Given the description of an element on the screen output the (x, y) to click on. 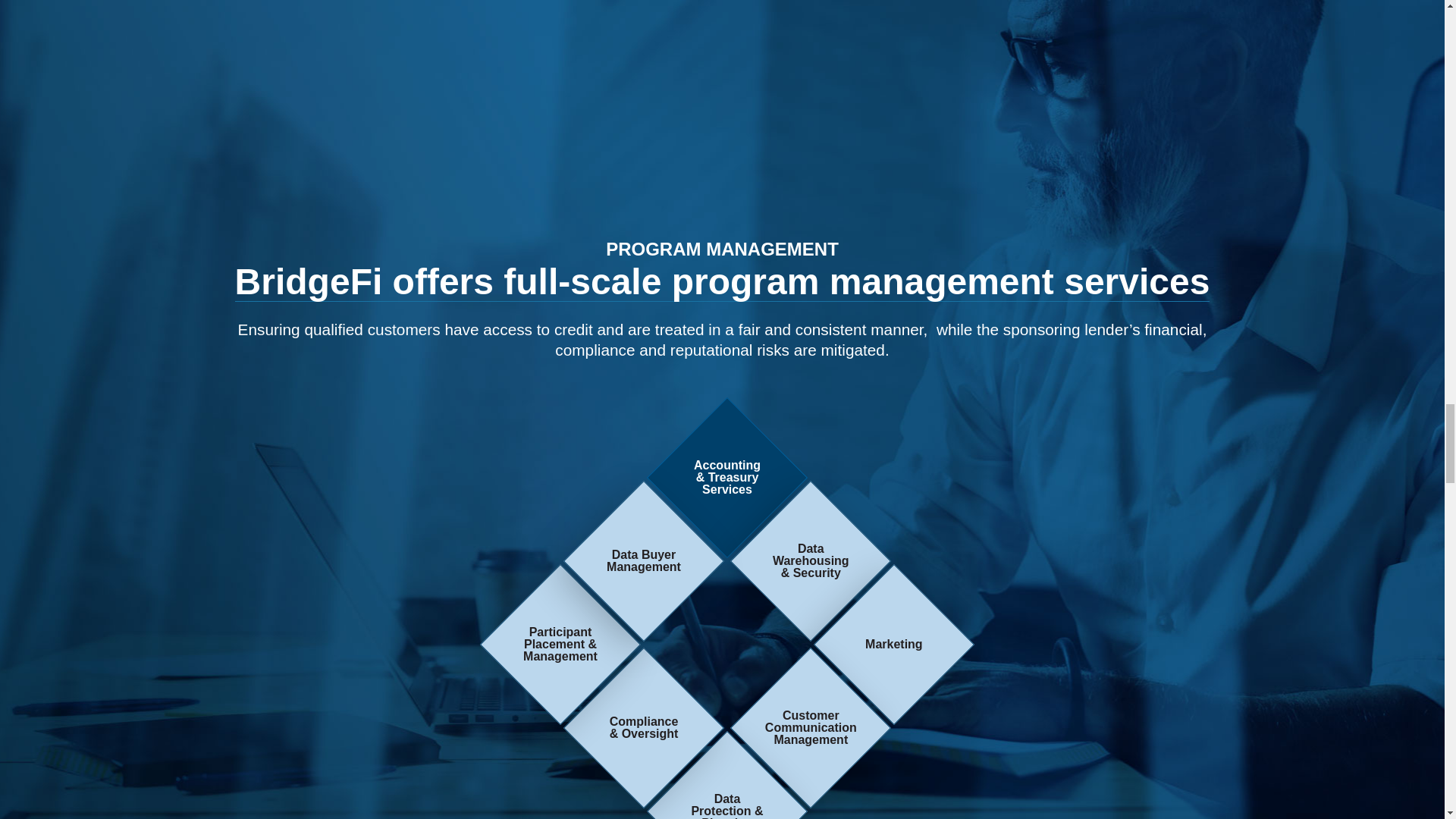
Data Buyer Management (620, 537)
Customer Communication Management (787, 704)
Marketing (870, 621)
